Given the description of an element on the screen output the (x, y) to click on. 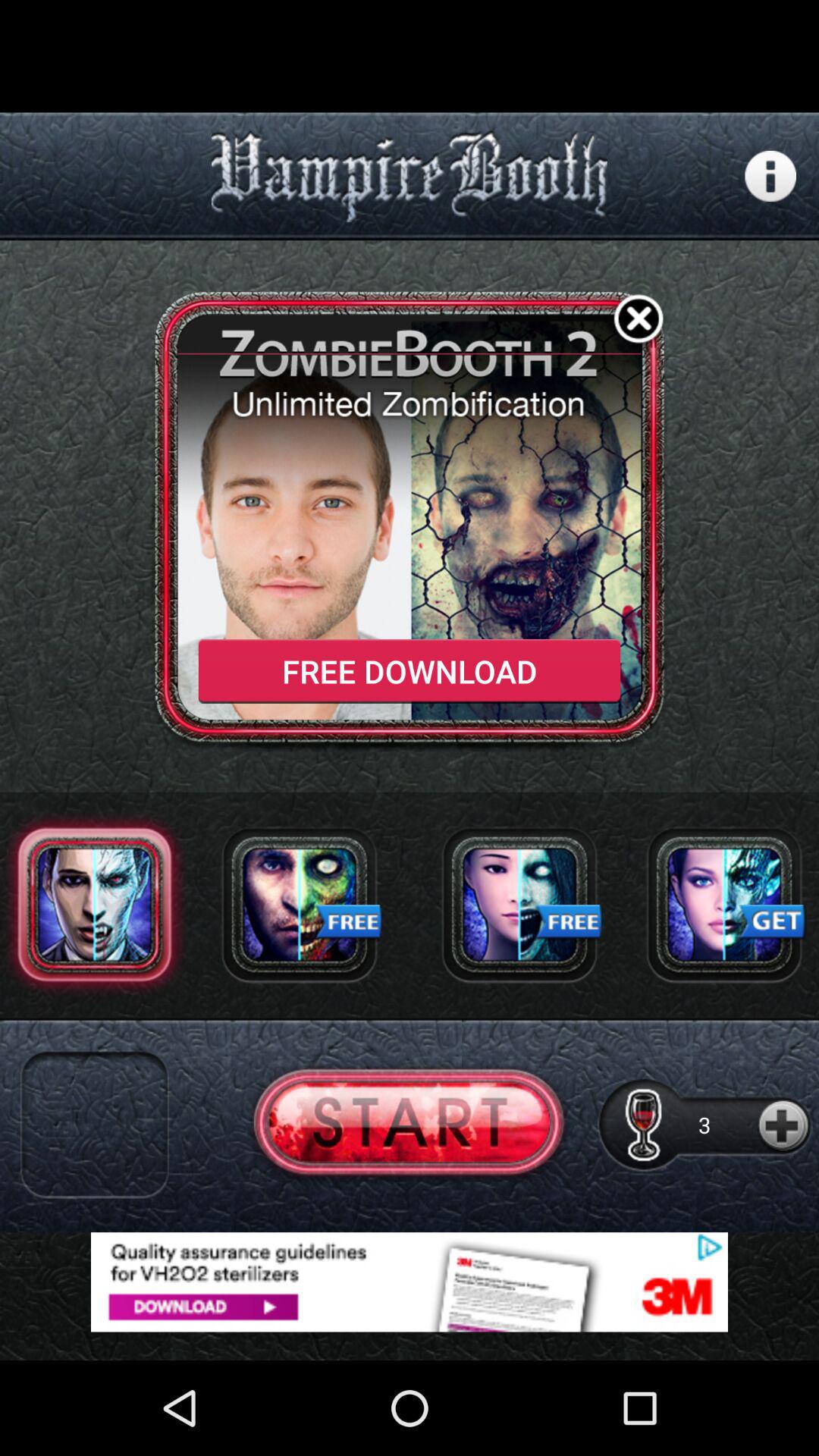
more information (770, 175)
